Given the description of an element on the screen output the (x, y) to click on. 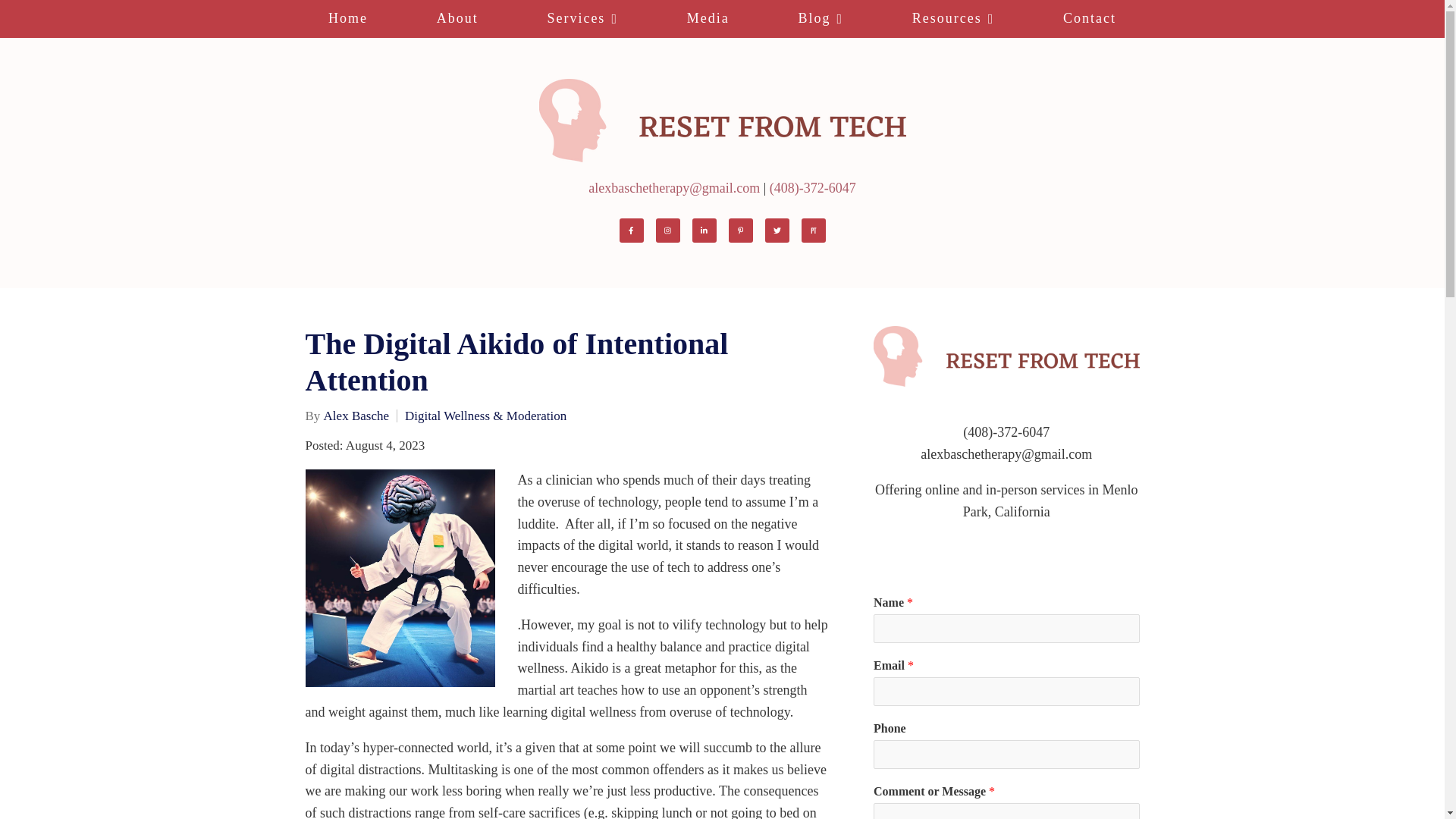
Contact (1090, 18)
Blog (819, 18)
Media (707, 18)
Resources (952, 18)
Services (582, 18)
Posts by Alex Basche (355, 415)
About (456, 18)
Home (348, 18)
